Given the description of an element on the screen output the (x, y) to click on. 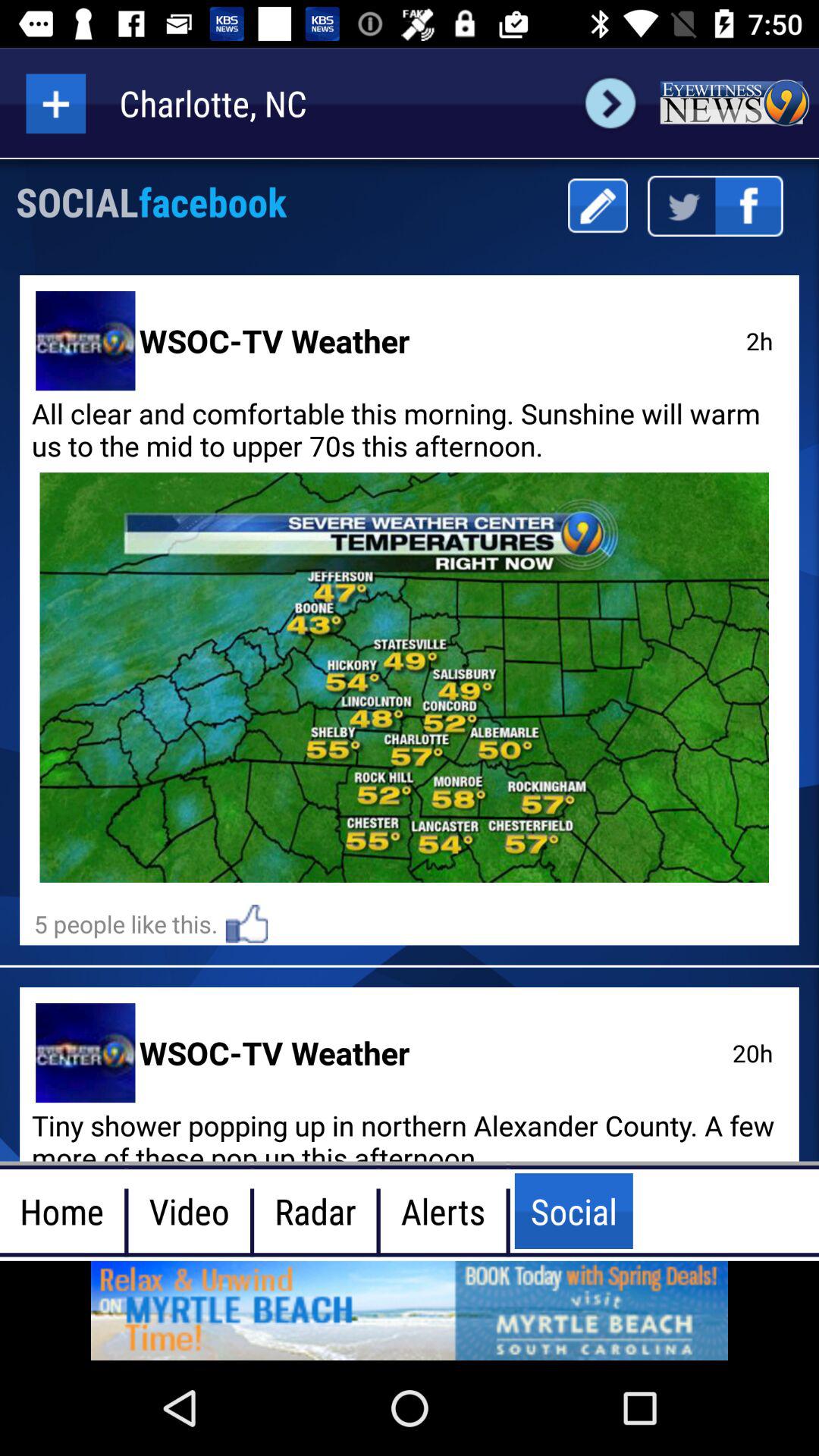
go to next (610, 103)
